Given the description of an element on the screen output the (x, y) to click on. 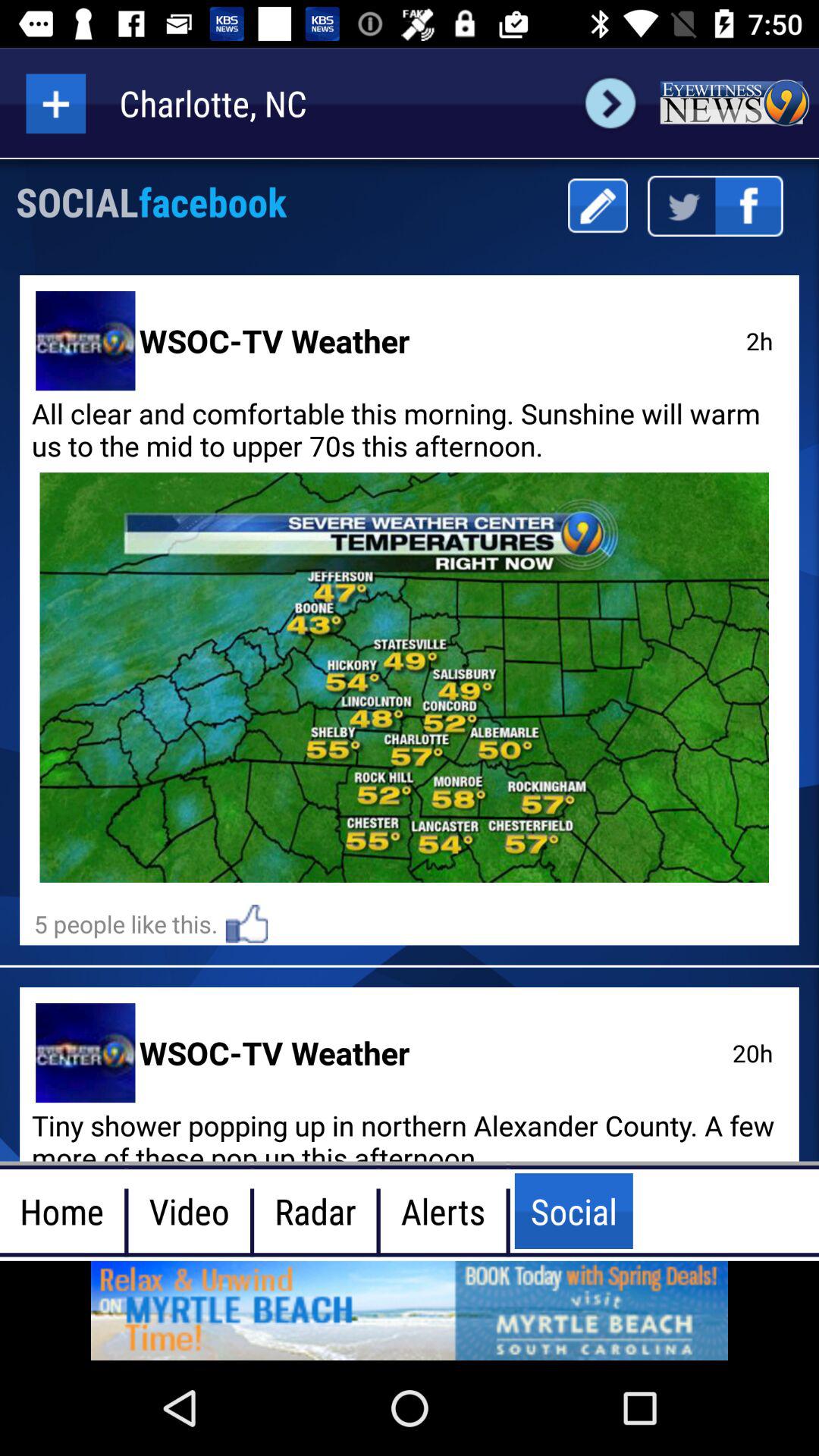
go to next (610, 103)
